Given the description of an element on the screen output the (x, y) to click on. 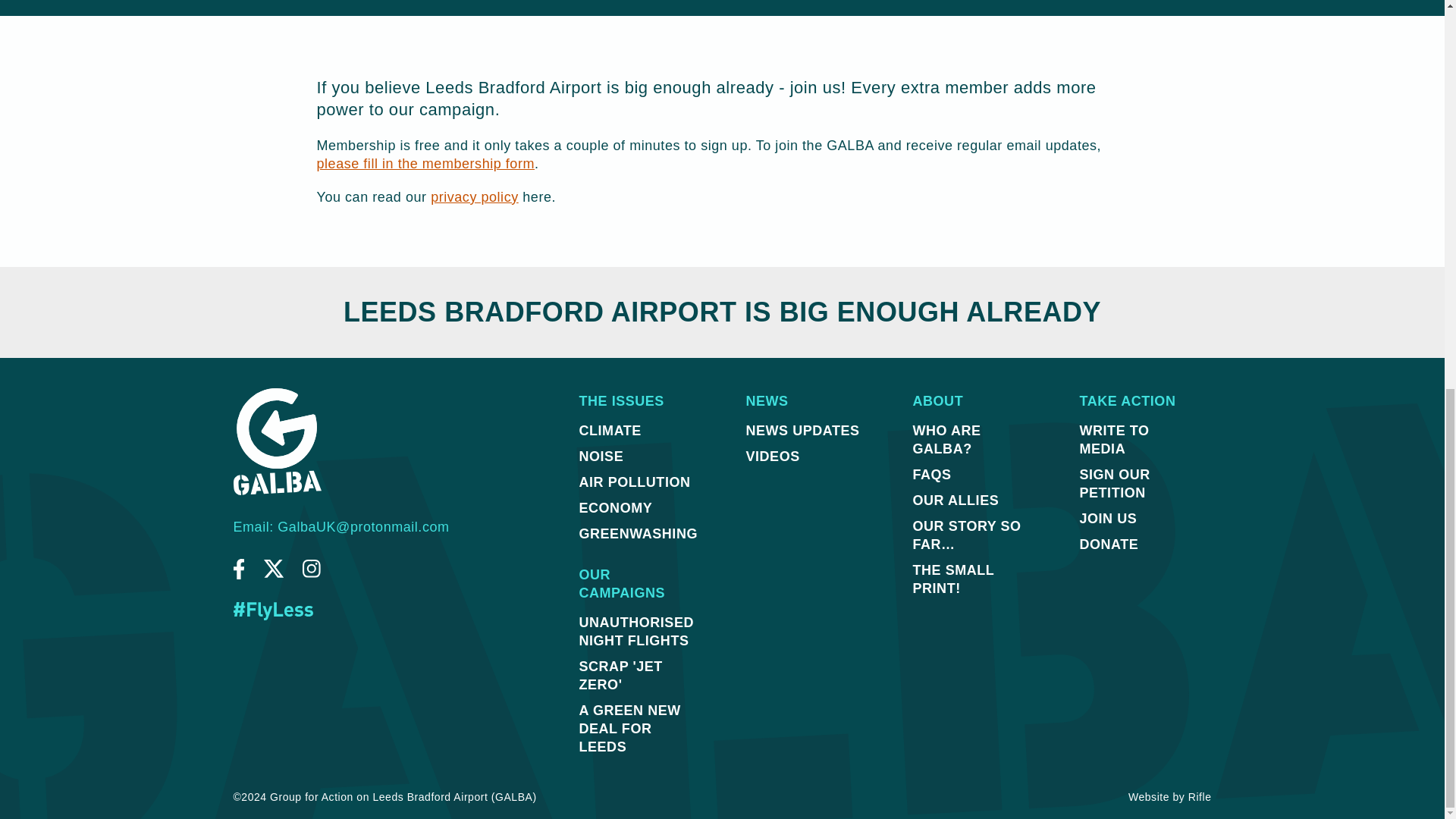
please fill in the membership form (425, 163)
VIDEOS (805, 456)
privacy policy (474, 196)
OUR ALLIES (971, 500)
ABOUT (971, 401)
CLIMATE (638, 430)
GREENWASHING (638, 533)
WHO ARE GALBA? (971, 439)
DONATE (1139, 544)
A GREEN NEW DEAL FOR LEEDS (638, 728)
TAKE ACTION (1139, 401)
FAQS (971, 474)
Website by Rifle (1169, 797)
SCRAP 'JET ZERO' (638, 675)
SIGN OUR PETITION (1139, 483)
